Given the description of an element on the screen output the (x, y) to click on. 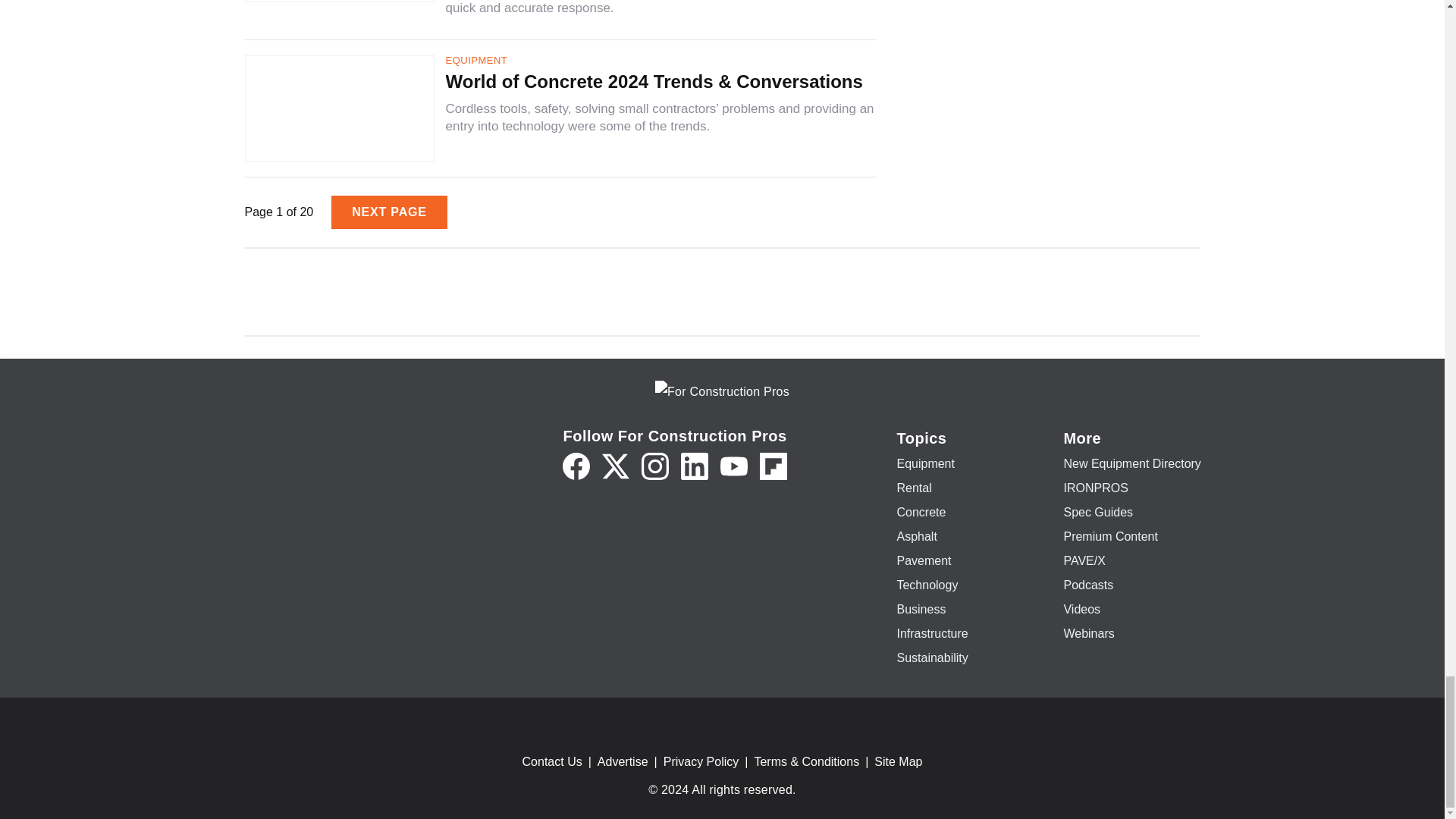
Facebook icon (575, 465)
Flipboard icon (773, 465)
YouTube icon (734, 465)
LinkedIn icon (694, 465)
Instagram icon (655, 465)
Twitter X icon (615, 465)
